Given the description of an element on the screen output the (x, y) to click on. 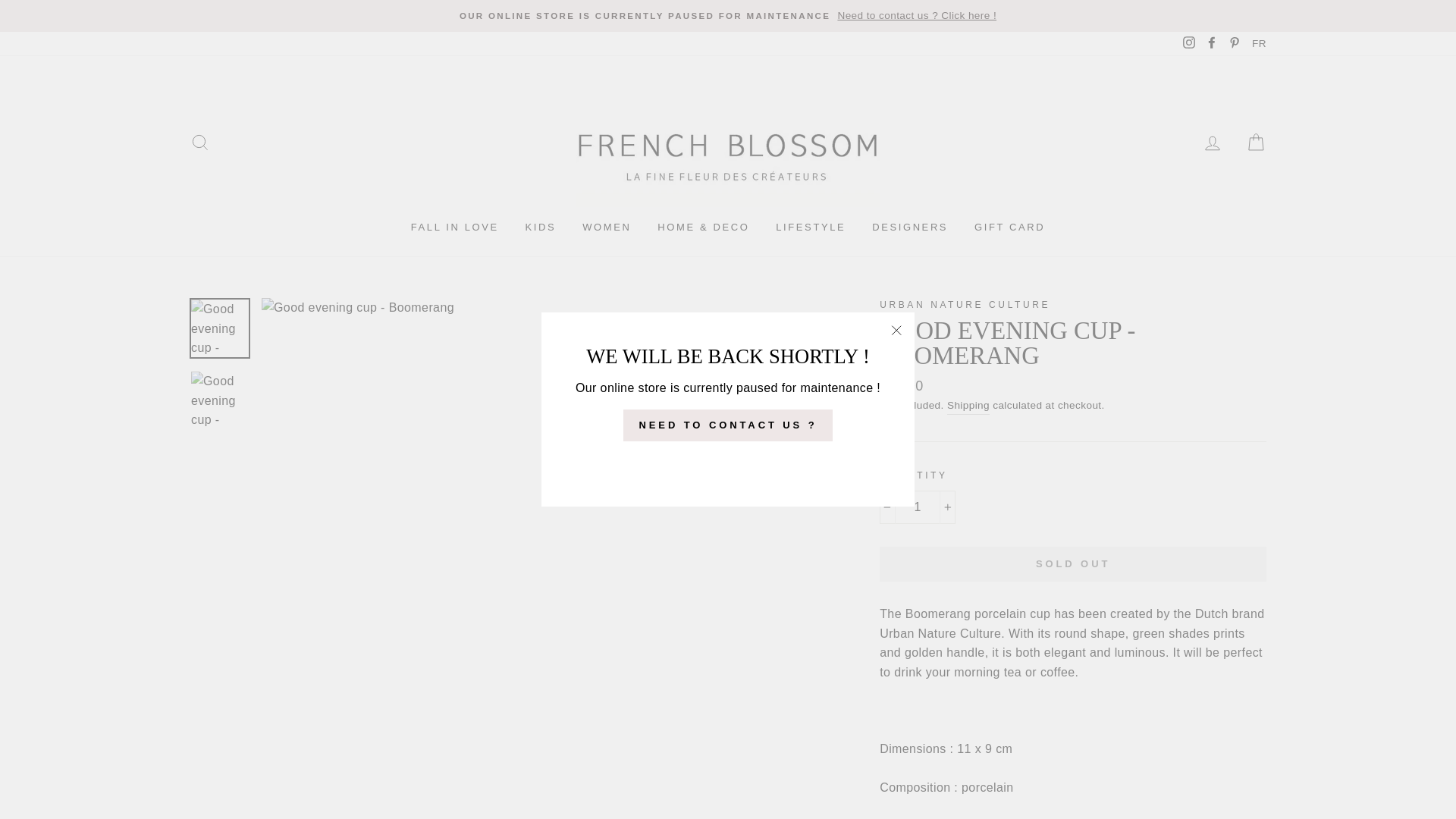
1 (917, 507)
